Given the description of an element on the screen output the (x, y) to click on. 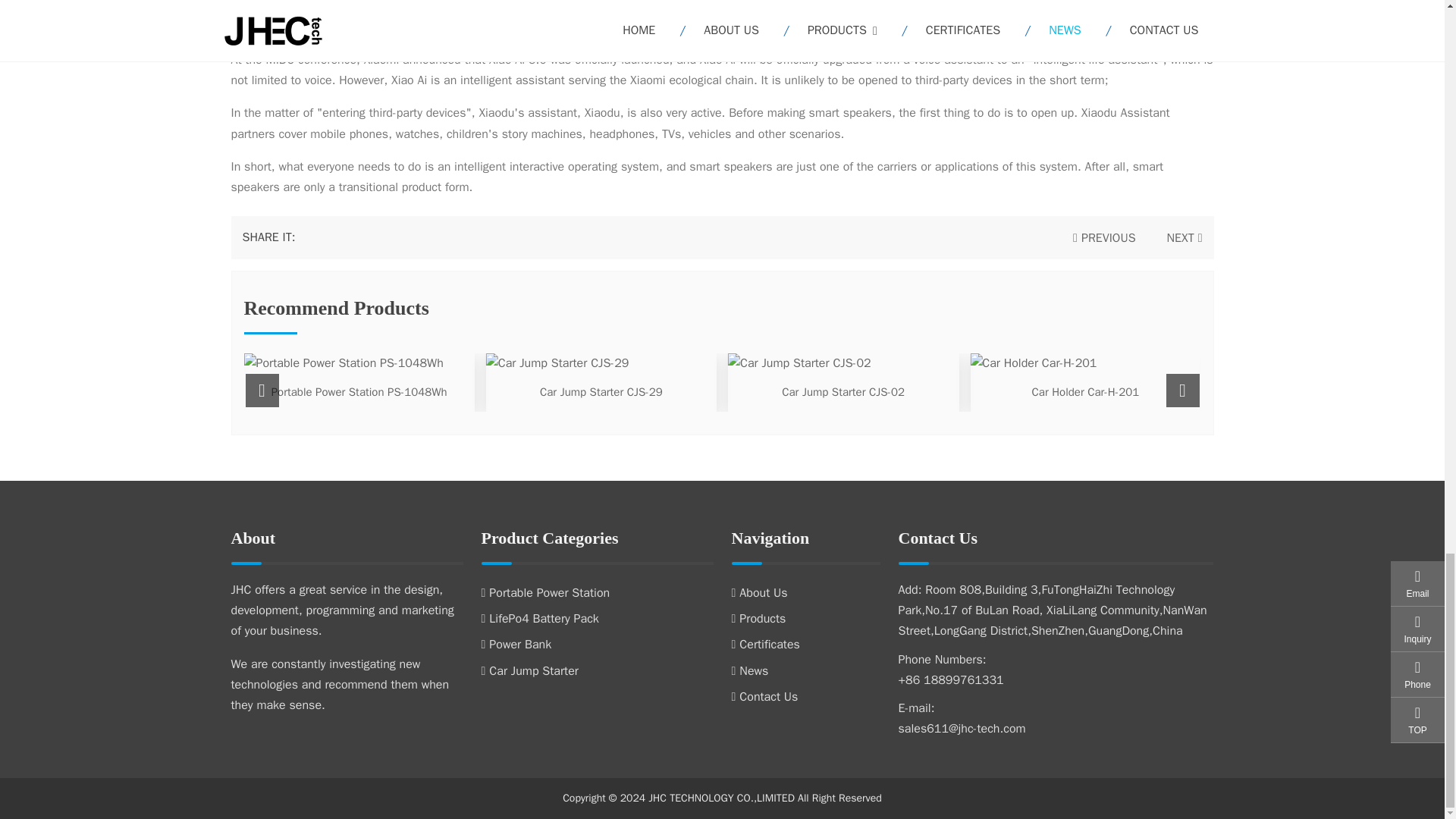
NEXT (1180, 238)
Portable Power Station PS-1048Wh (358, 391)
Power Bank (515, 644)
Portable Power Station (545, 592)
Car Holder Car-H-201 (1086, 391)
PREVIOUS (1104, 238)
LifePo4 Battery Pack (539, 618)
Car Jump Starter CJS-02 (842, 391)
Car Jump Starter CJS-29 (601, 391)
